Given the description of an element on the screen output the (x, y) to click on. 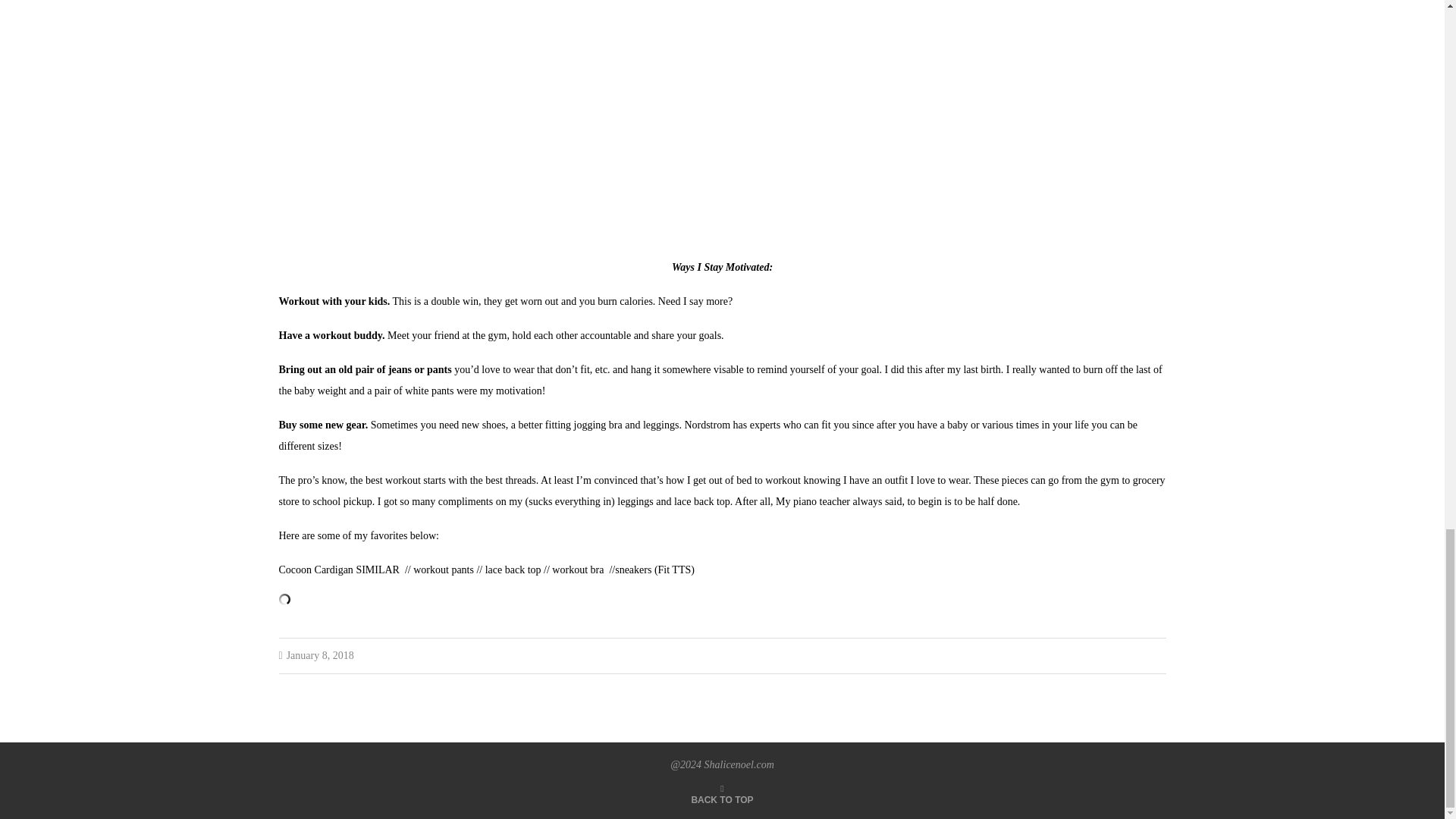
workout bra  (579, 569)
leggings (634, 501)
lace back top (702, 501)
lace back top (512, 569)
workout pants (443, 569)
BACK TO TOP (721, 799)
sneakers (632, 569)
SIMILAR  (378, 569)
